Given the description of an element on the screen output the (x, y) to click on. 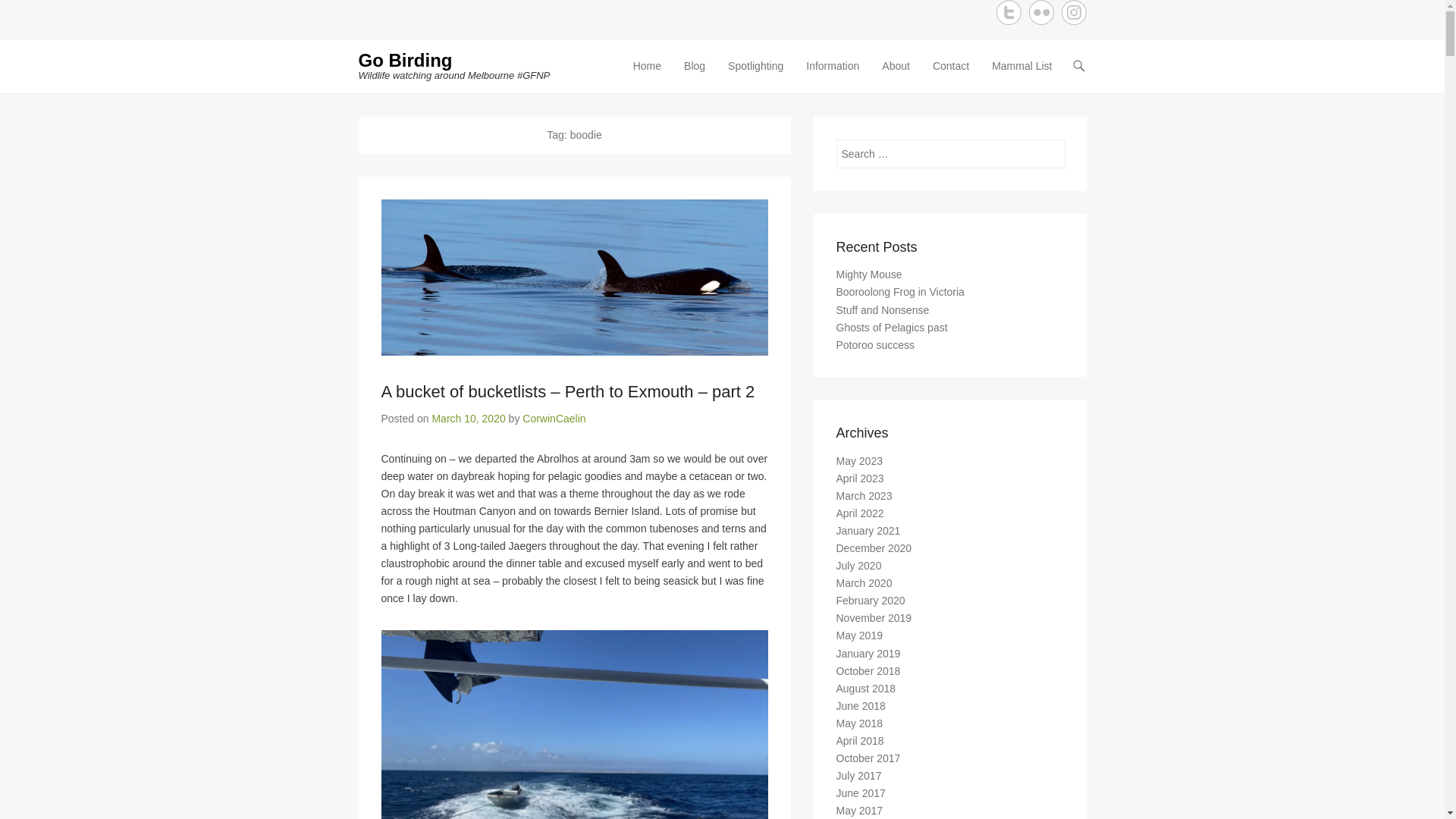
About Element type: text (895, 75)
March 2020 Element type: text (863, 583)
April 2022 Element type: text (859, 513)
Mammal List Element type: text (1021, 75)
April 2018 Element type: text (859, 740)
CorwinCaelin Element type: text (553, 418)
Home Element type: text (646, 75)
December 2020 Element type: text (873, 548)
October 2018 Element type: text (867, 671)
Skip to content Element type: text (660, 66)
January 2021 Element type: text (867, 530)
Flickr Element type: text (1040, 12)
Contact Element type: text (950, 75)
Twitter Element type: text (1008, 12)
Potoroo success Element type: text (874, 344)
June 2017 Element type: text (859, 793)
February 2020 Element type: text (869, 600)
Blog Element type: text (694, 75)
July 2017 Element type: text (858, 775)
January 2019 Element type: text (867, 653)
Mighty Mouse Element type: text (868, 274)
Instagram Element type: text (1073, 12)
October 2017 Element type: text (867, 758)
Ghosts of Pelagics past Element type: text (891, 327)
May 2017 Element type: text (858, 810)
Information Element type: text (832, 75)
November 2019 Element type: text (873, 617)
May 2023 Element type: text (858, 461)
Search Element type: text (32, 17)
Booroolong Frog in Victoria Element type: text (899, 291)
August 2018 Element type: text (865, 688)
June 2018 Element type: text (859, 705)
April 2023 Element type: text (859, 478)
March 2023 Element type: text (863, 495)
March 10, 2020 Element type: text (468, 418)
May 2018 Element type: text (858, 723)
July 2020 Element type: text (858, 565)
Go Birding Element type: text (404, 60)
Stuff and Nonsense Element type: text (881, 310)
May 2019 Element type: text (858, 635)
Spotlighting Element type: text (755, 75)
